Given the description of an element on the screen output the (x, y) to click on. 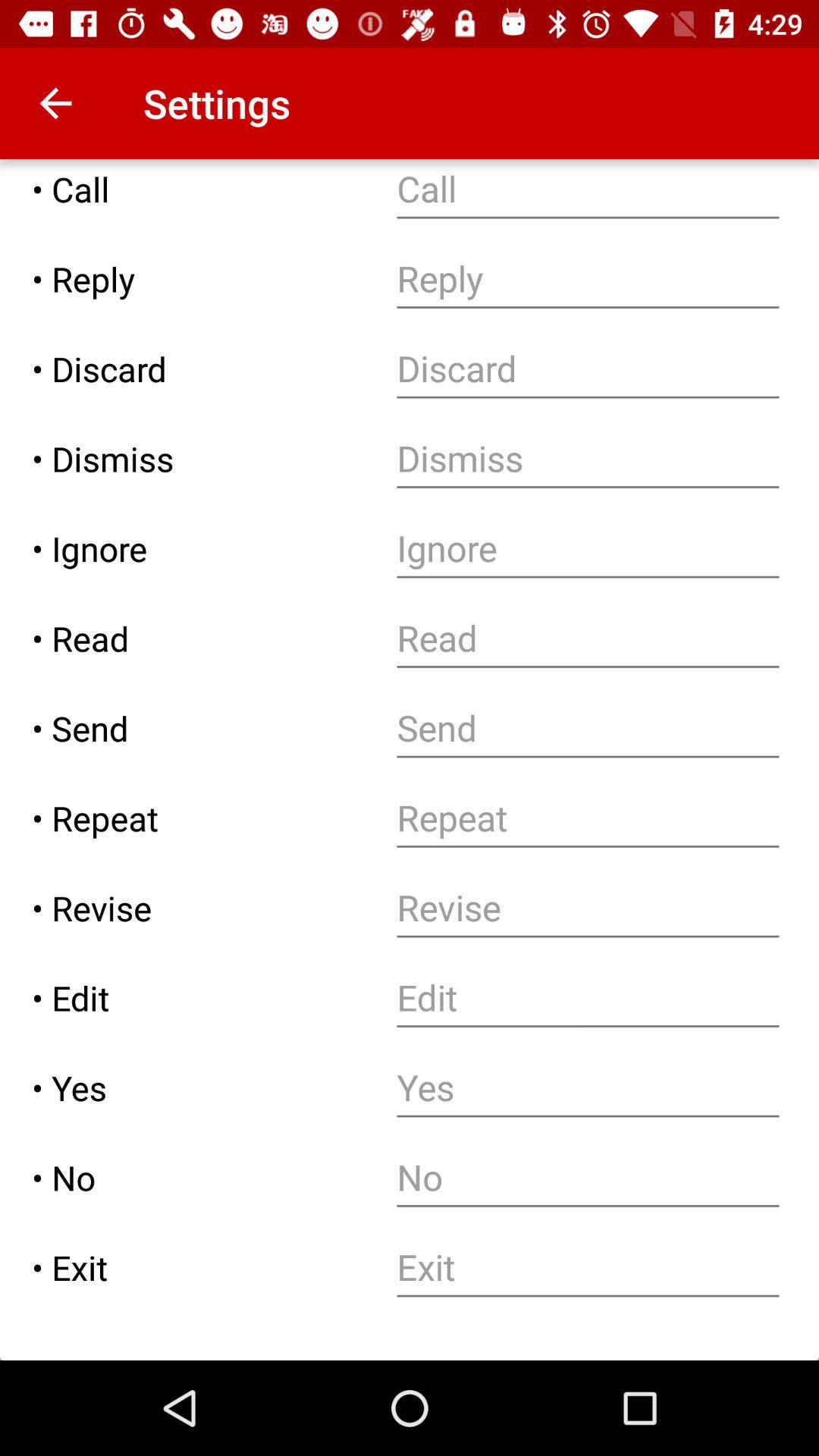
change answer (588, 1087)
